Given the description of an element on the screen output the (x, y) to click on. 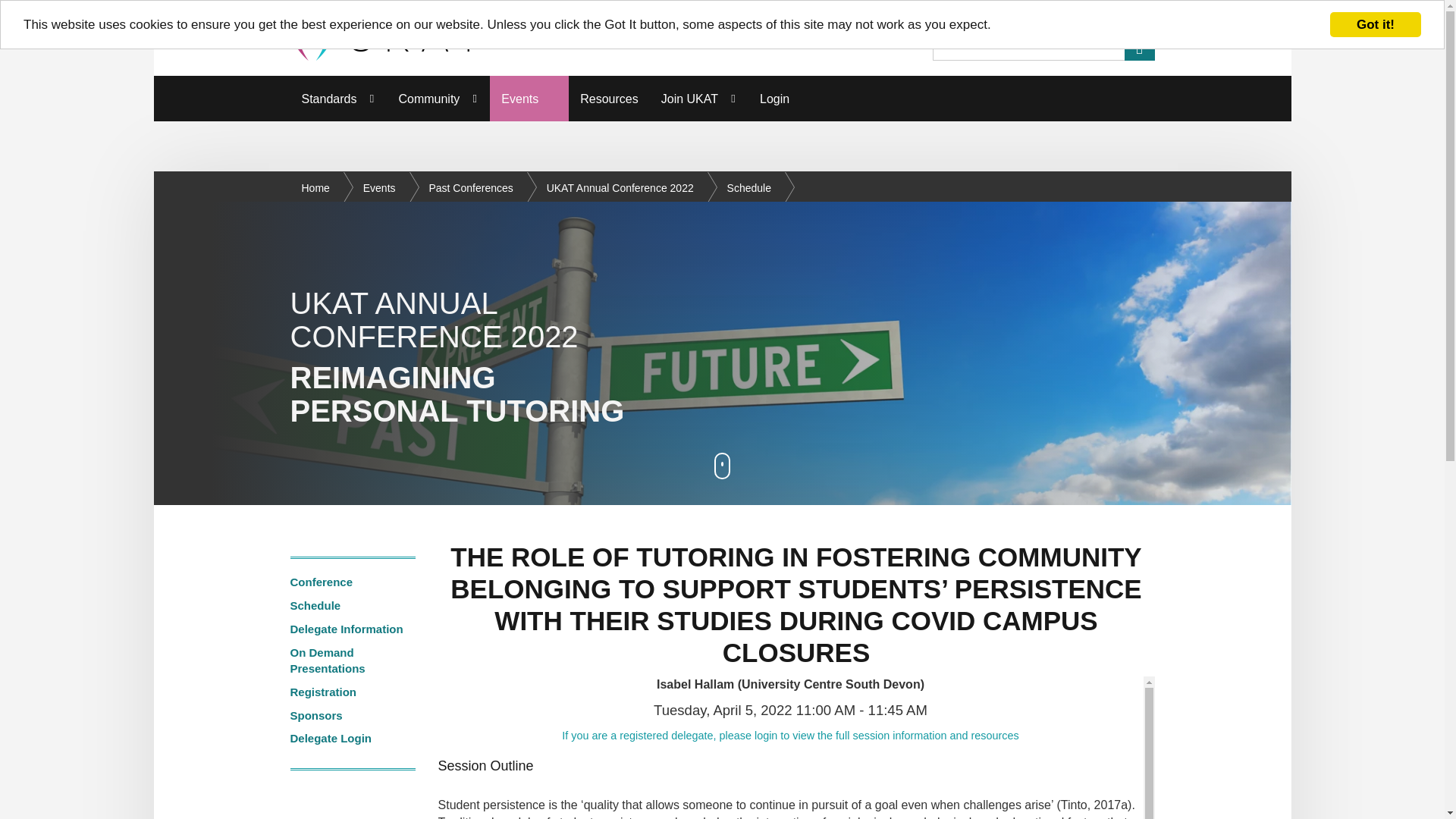
Community (438, 98)
UKAT - UK Advising and Tutoring (383, 37)
Standards (338, 98)
Events (529, 98)
